Given the description of an element on the screen output the (x, y) to click on. 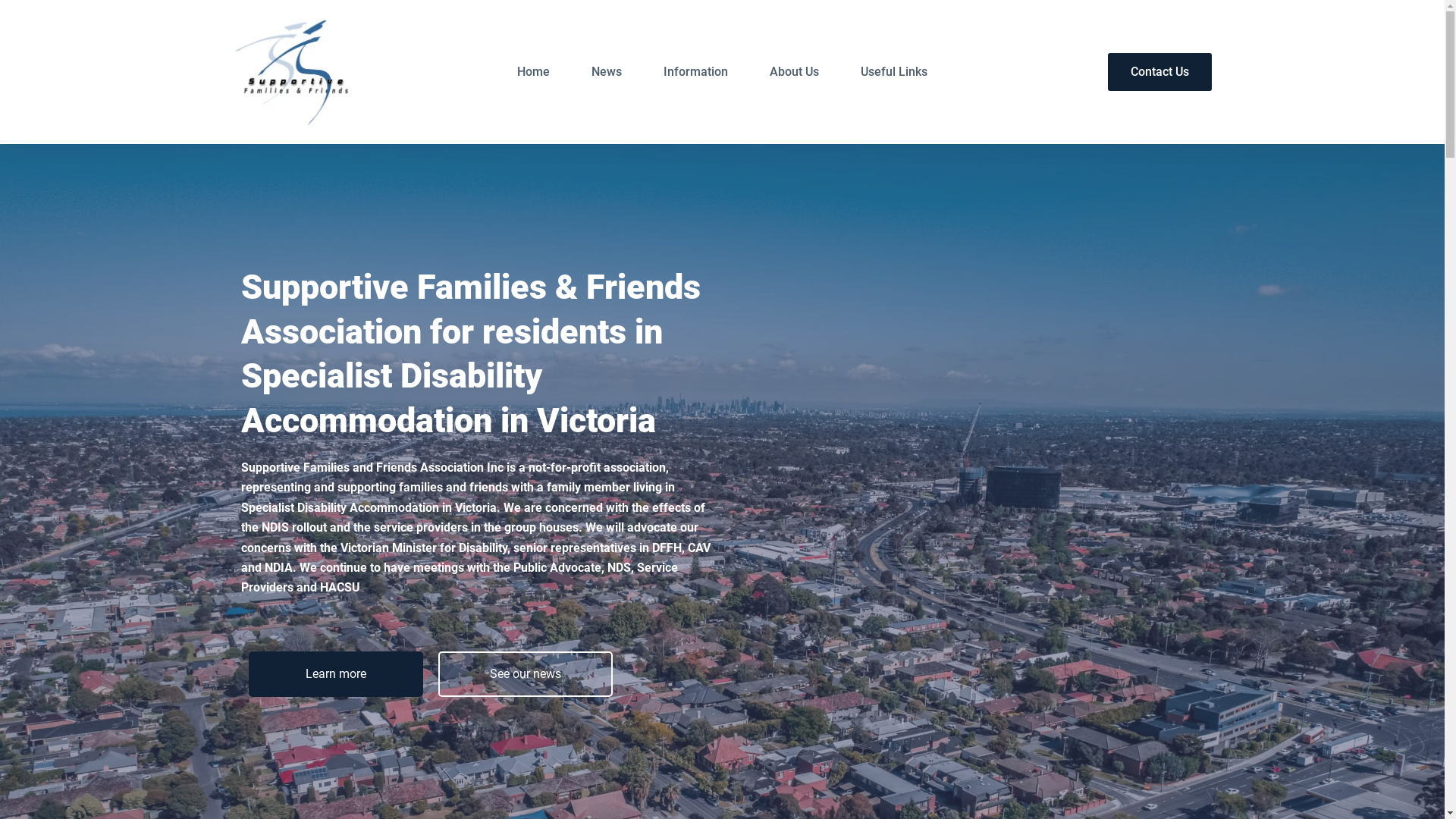
News Element type: text (606, 72)
Learn more Element type: text (335, 673)
Skip to content Element type: text (15, 7)
Contact Us Element type: text (1159, 72)
See our news Element type: text (525, 673)
Home Element type: text (532, 72)
About Us Element type: text (794, 72)
Information Element type: text (696, 72)
Useful Links Element type: text (894, 72)
